Given the description of an element on the screen output the (x, y) to click on. 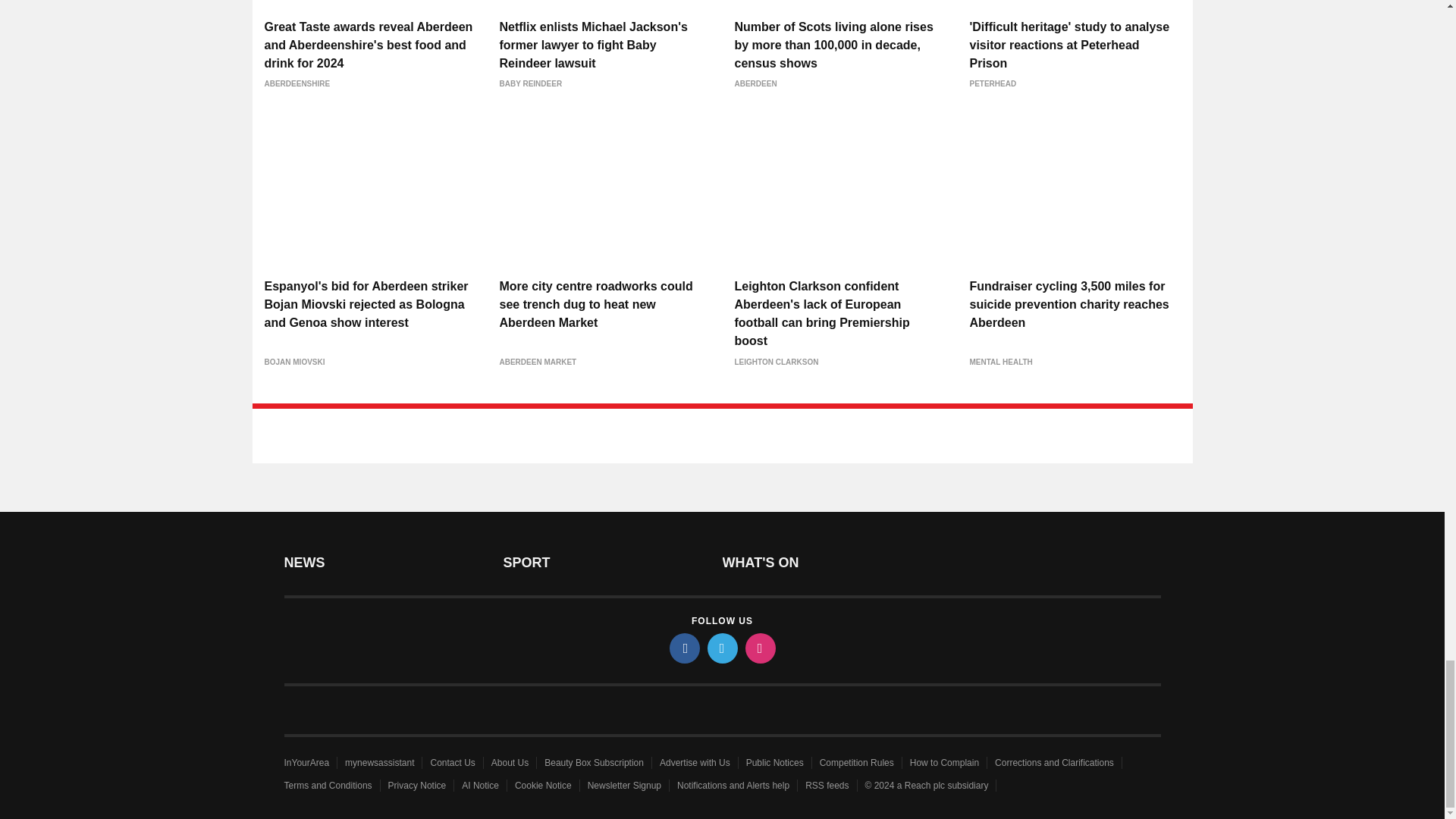
instagram (759, 648)
facebook (683, 648)
twitter (721, 648)
